Given the description of an element on the screen output the (x, y) to click on. 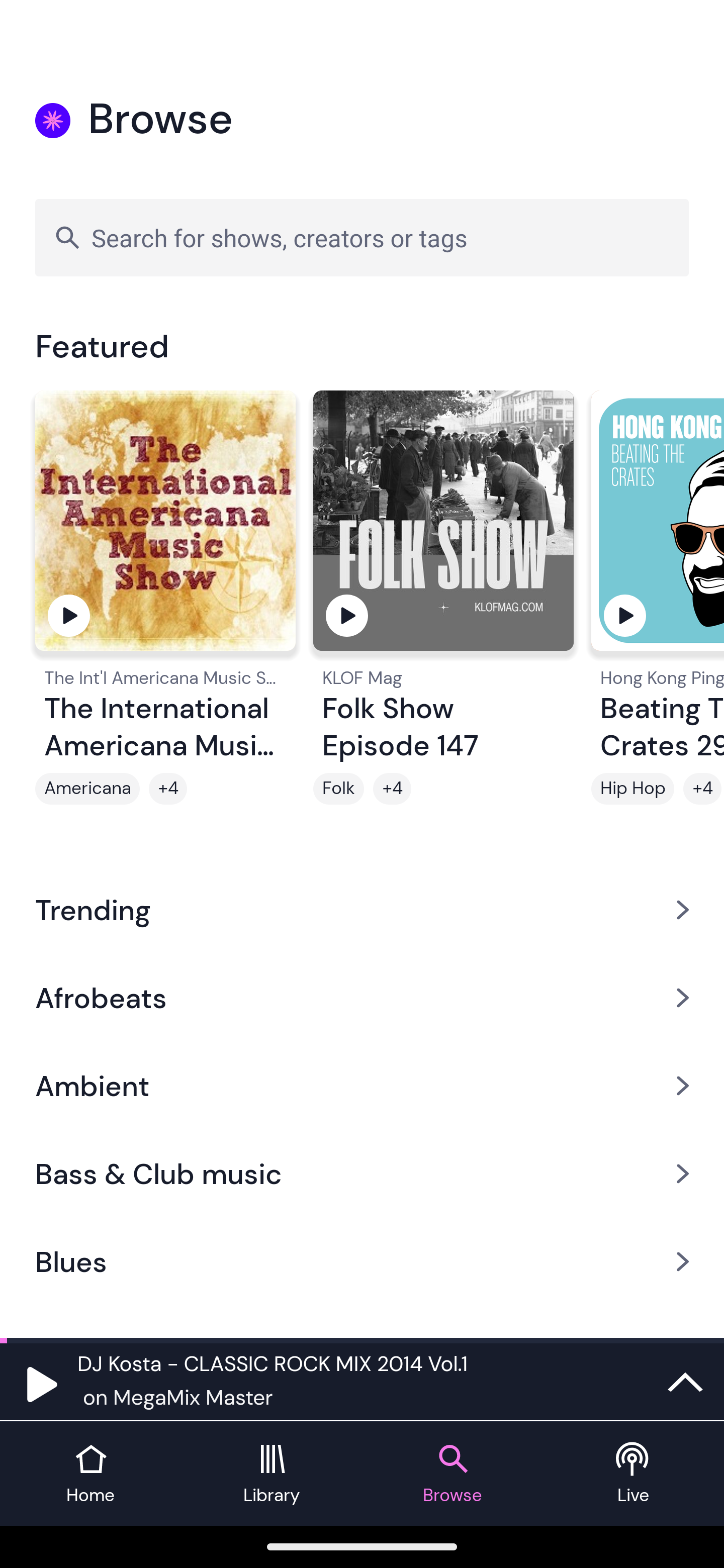
Search for shows, creators or tags (361, 237)
Americana (87, 788)
Folk (338, 788)
Hip Hop (632, 788)
Trending (361, 909)
Afrobeats (361, 997)
Ambient (361, 1085)
Bass & Club music (361, 1174)
Blues (361, 1262)
Home tab Home (90, 1473)
Library tab Library (271, 1473)
Browse tab Browse (452, 1473)
Live tab Live (633, 1473)
